Given the description of an element on the screen output the (x, y) to click on. 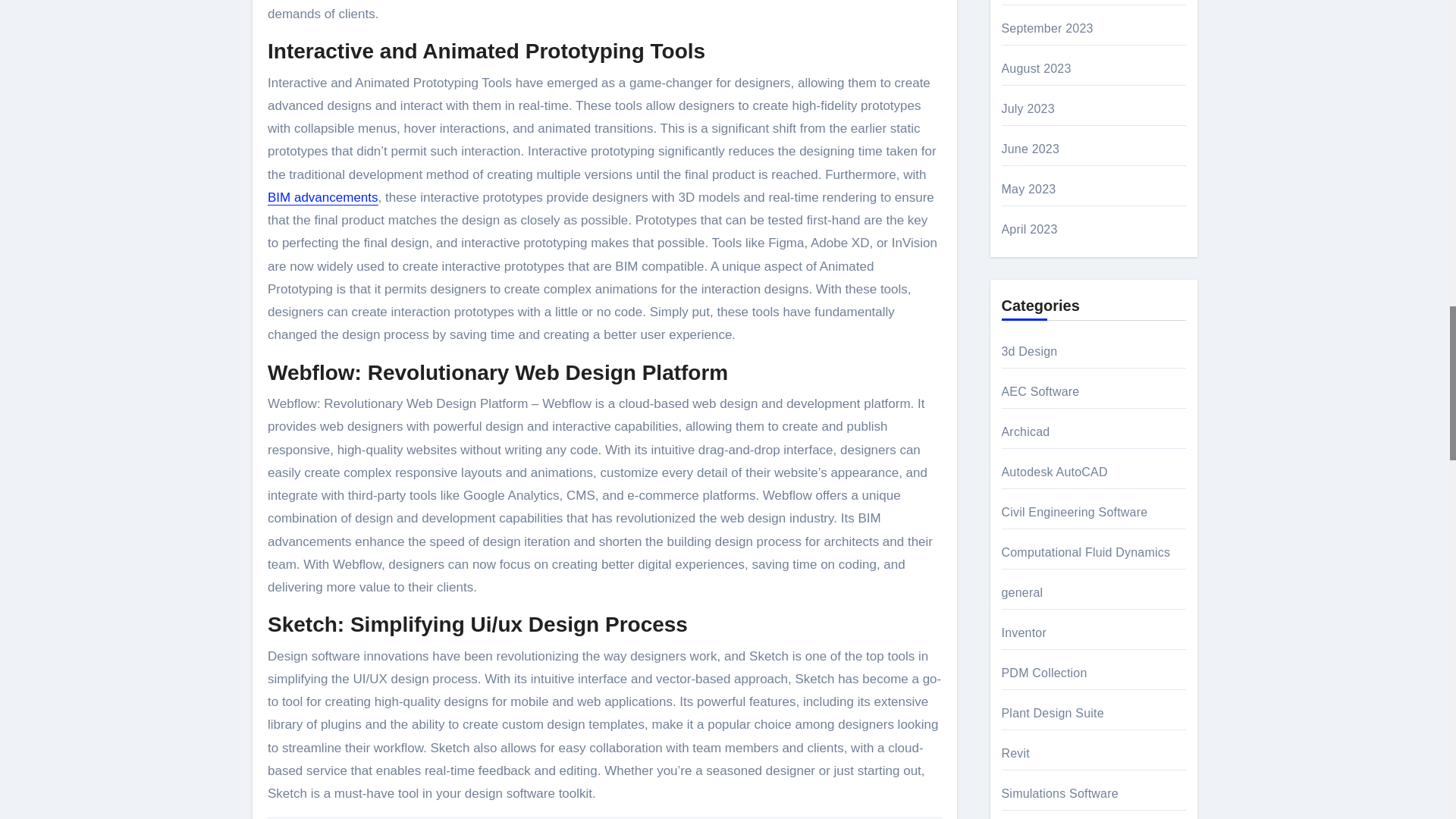
BIM advancements (322, 197)
